Given the description of an element on the screen output the (x, y) to click on. 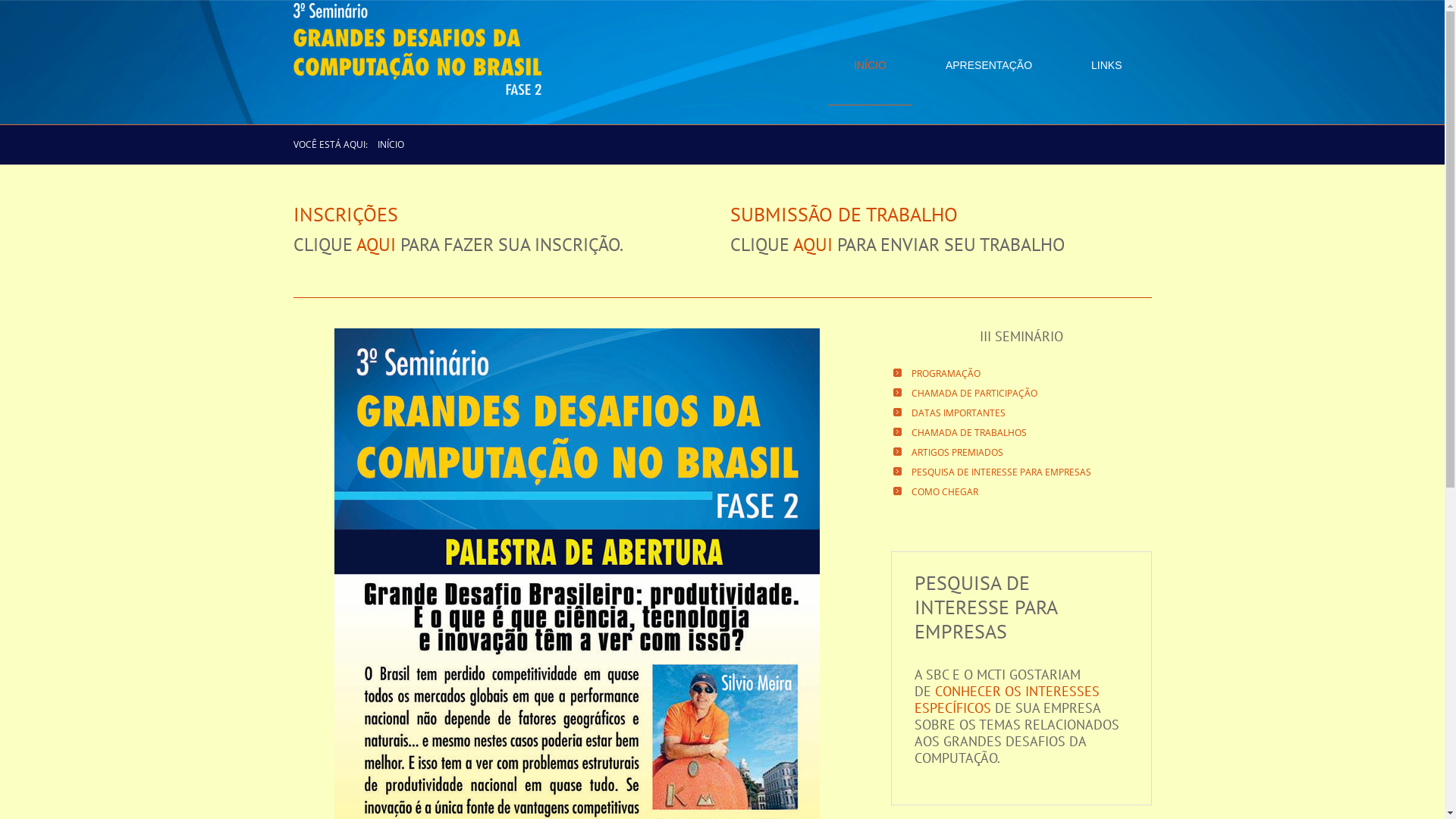
AQUI Element type: text (375, 244)
LINKS Element type: text (1106, 65)
PESQUISA DE INTERESSE PARA EMPRESAS Element type: text (1001, 472)
CHAMADA DE TRABALHOS Element type: text (968, 432)
DATAS IMPORTANTES Element type: text (958, 413)
COMO CHEGAR Element type: text (944, 492)
AQUI Element type: text (812, 244)
ARTIGOS PREMIADOS Element type: text (957, 452)
